Given the description of an element on the screen output the (x, y) to click on. 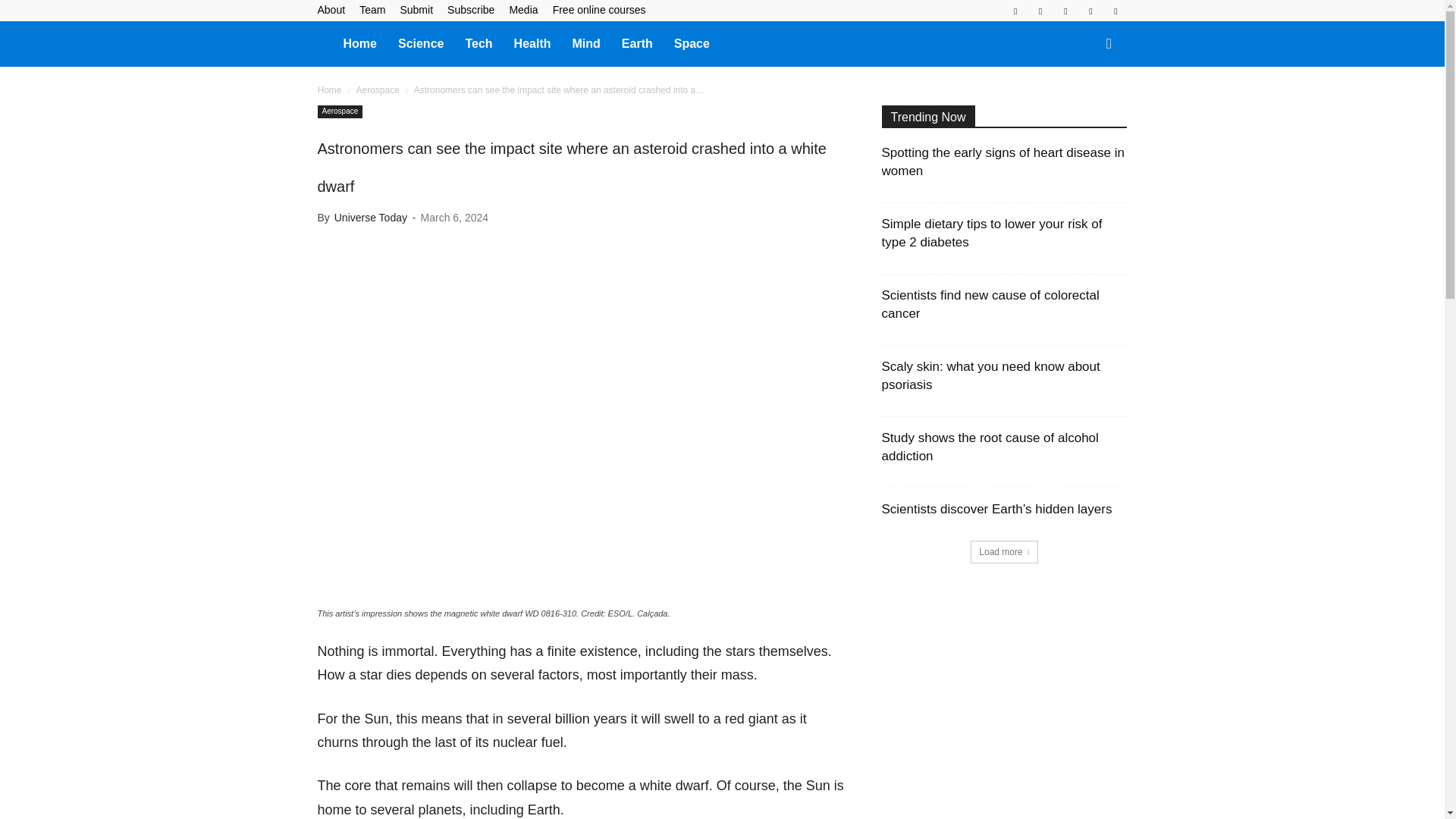
Twitter (1090, 10)
Submit (415, 9)
Website (1114, 10)
Team (372, 9)
Knowridge Science Report (324, 42)
Free online courses (599, 9)
Facebook (1015, 10)
RSS (1065, 10)
View all posts in Aerospace (376, 90)
